Given the description of an element on the screen output the (x, y) to click on. 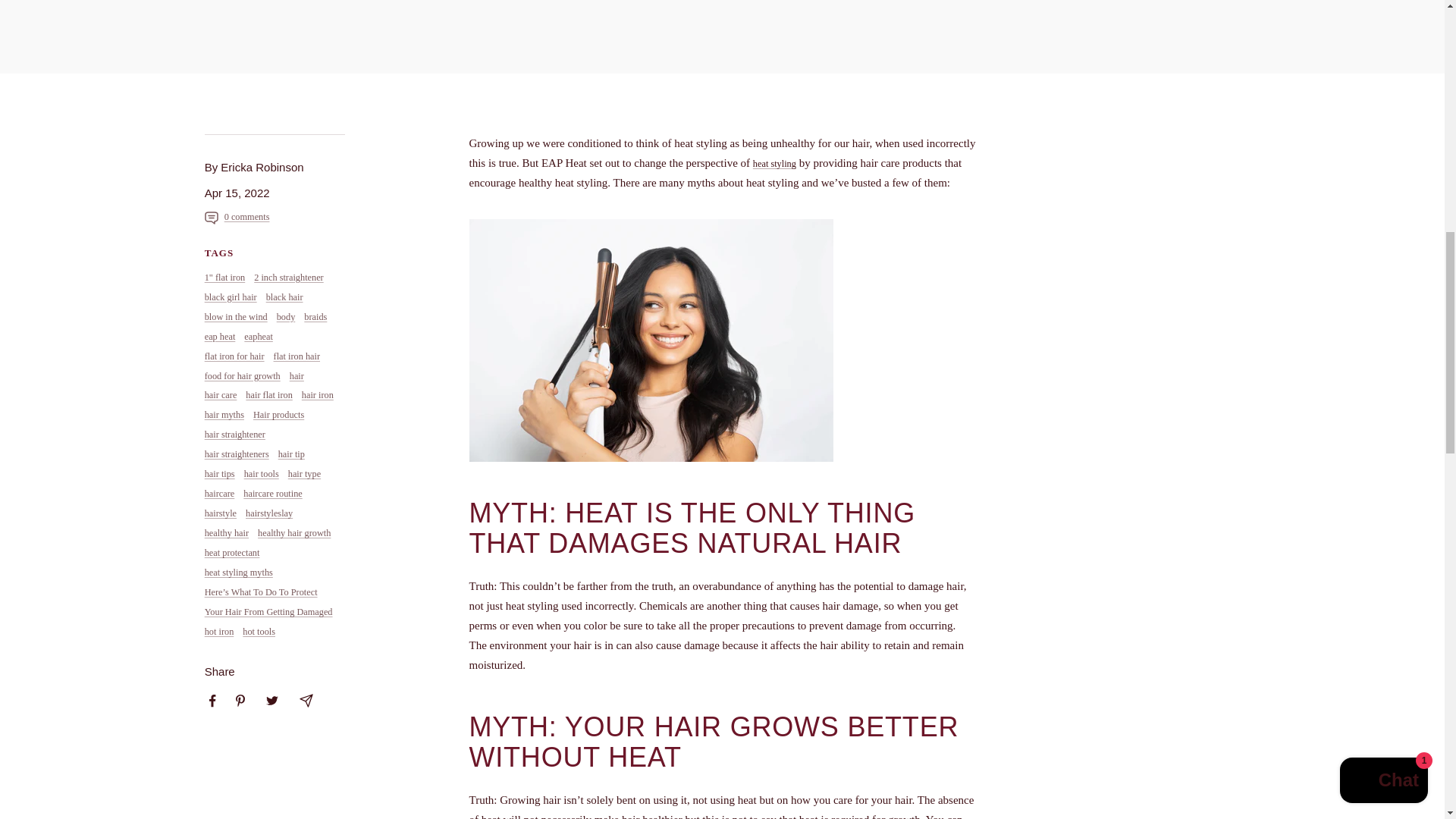
EAP HEAT FLAT IRONS (774, 163)
IO (1045, 44)
BN (1045, 94)
BW (1045, 2)
VG (1045, 69)
BR (1045, 19)
BG (1045, 119)
